Given the description of an element on the screen output the (x, y) to click on. 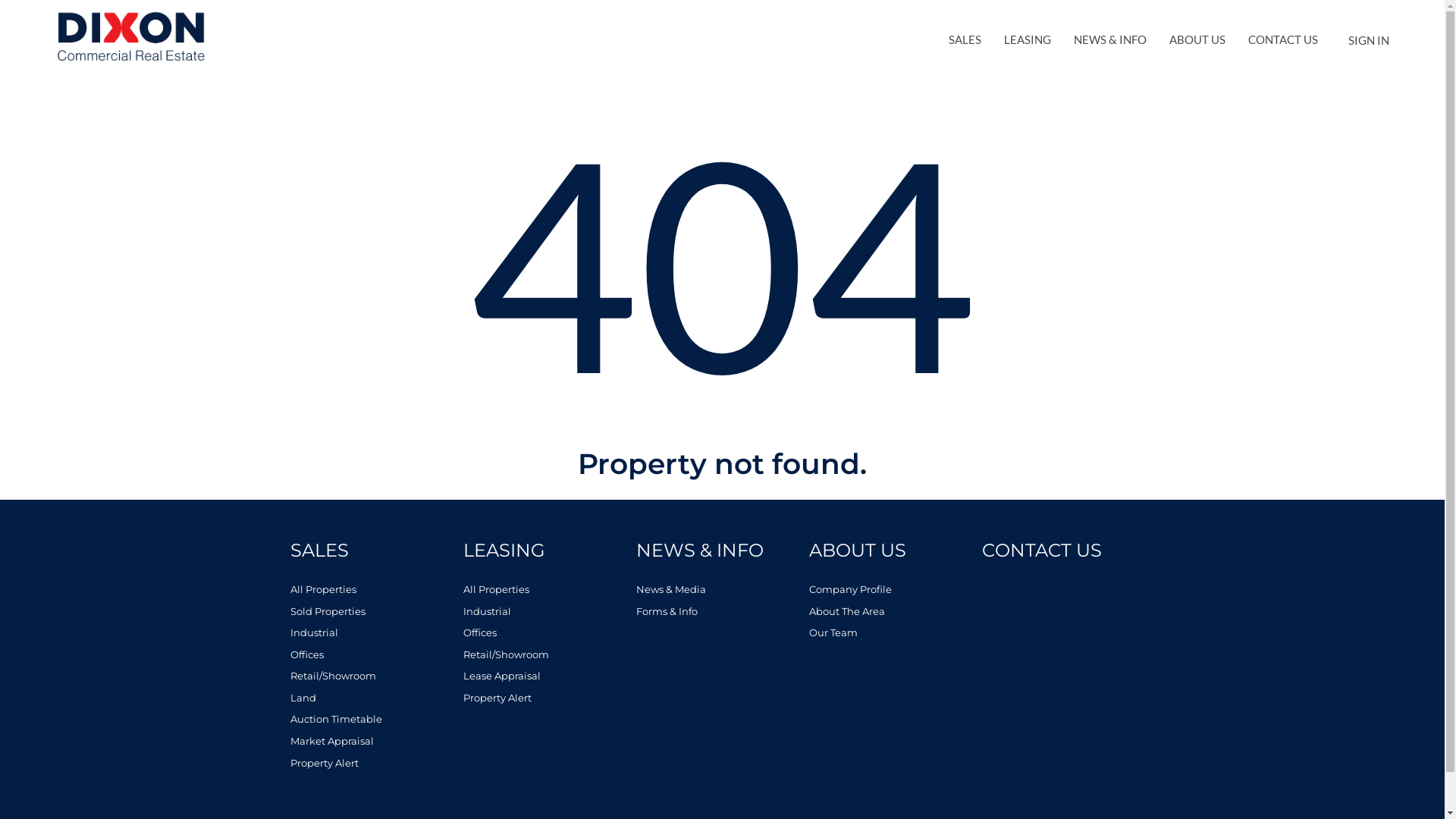
Property Alert Element type: text (548, 697)
Market Appraisal Element type: text (375, 741)
Company Profile Element type: text (894, 589)
ABOUT US Element type: text (894, 550)
Retail/Showroom Element type: text (375, 675)
SIGN IN Element type: text (1368, 40)
Industrial Element type: text (548, 611)
NEWS & INFO Element type: text (1109, 39)
ABOUT US Element type: text (1196, 39)
Property Alert Element type: text (375, 763)
NEWS & INFO Element type: text (721, 550)
Our Team Element type: text (894, 632)
Offices Element type: text (548, 632)
Land Element type: text (375, 697)
SALES Element type: text (375, 550)
News & Media Element type: text (721, 589)
Retail/Showroom Element type: text (548, 654)
LEASING Element type: text (548, 550)
About The Area Element type: text (894, 611)
Industrial Element type: text (375, 632)
Forms & Info Element type: text (721, 611)
All Properties Element type: text (375, 589)
Sold Properties Element type: text (375, 611)
CONTACT US Element type: text (1067, 550)
Offices Element type: text (375, 654)
Lease Appraisal Element type: text (548, 675)
LEASING Element type: text (1027, 39)
Auction Timetable Element type: text (375, 719)
SALES Element type: text (964, 39)
All Properties Element type: text (548, 589)
CONTACT US Element type: text (1282, 39)
